Given the description of an element on the screen output the (x, y) to click on. 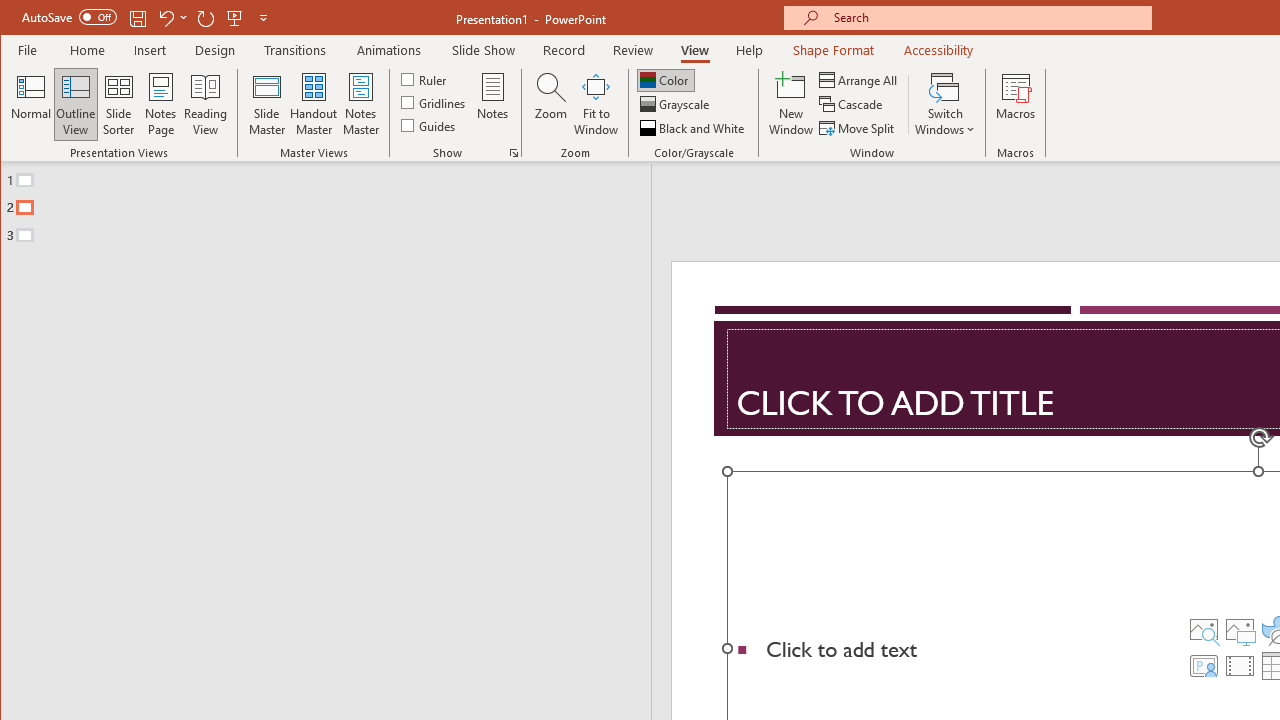
Gridlines (435, 101)
New Window (791, 104)
Black and White (694, 127)
